Given the description of an element on the screen output the (x, y) to click on. 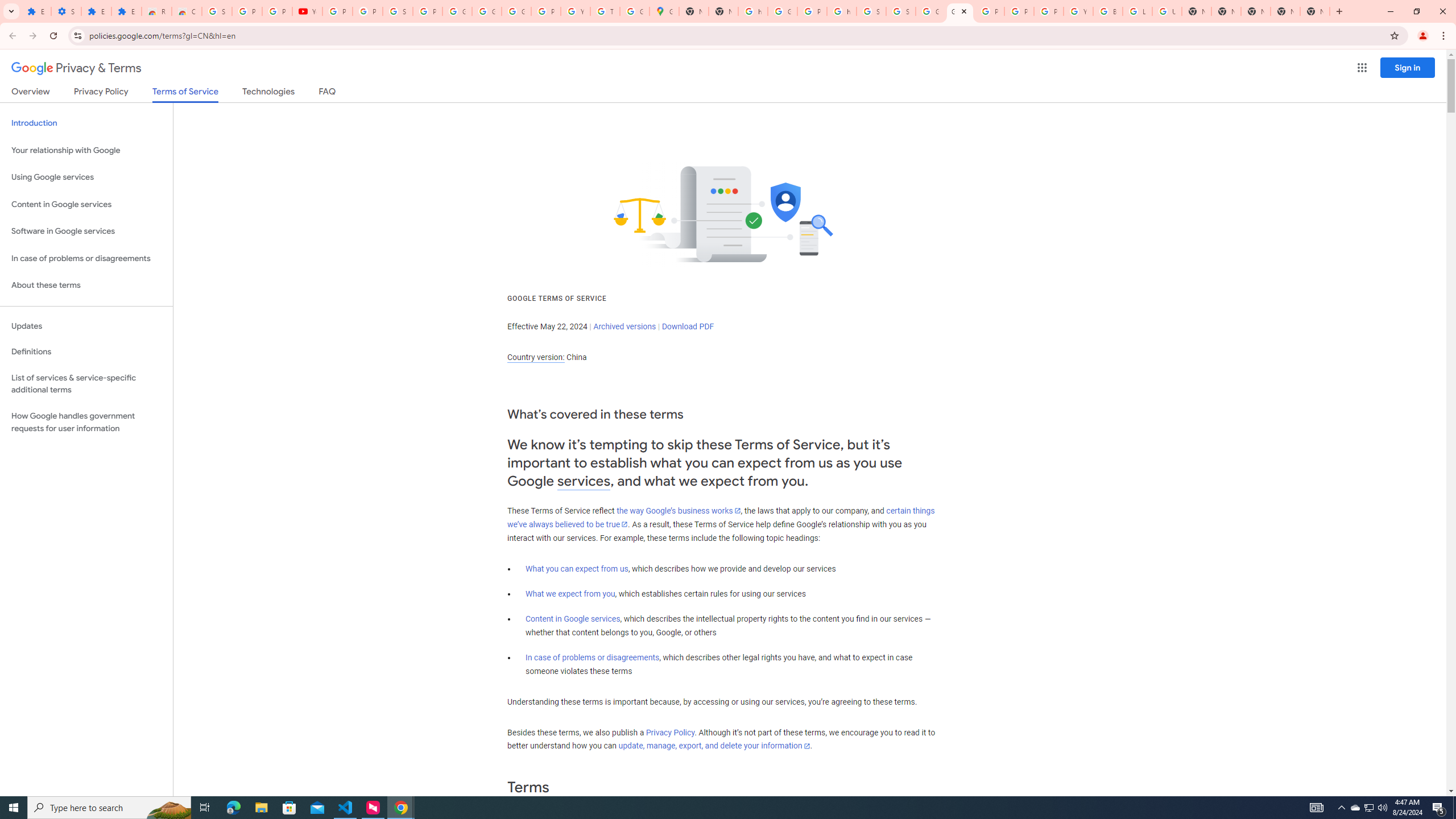
Extensions (126, 11)
Sign in - Google Accounts (900, 11)
update, manage, export, and delete your information (714, 746)
About these terms (86, 284)
